Given the description of an element on the screen output the (x, y) to click on. 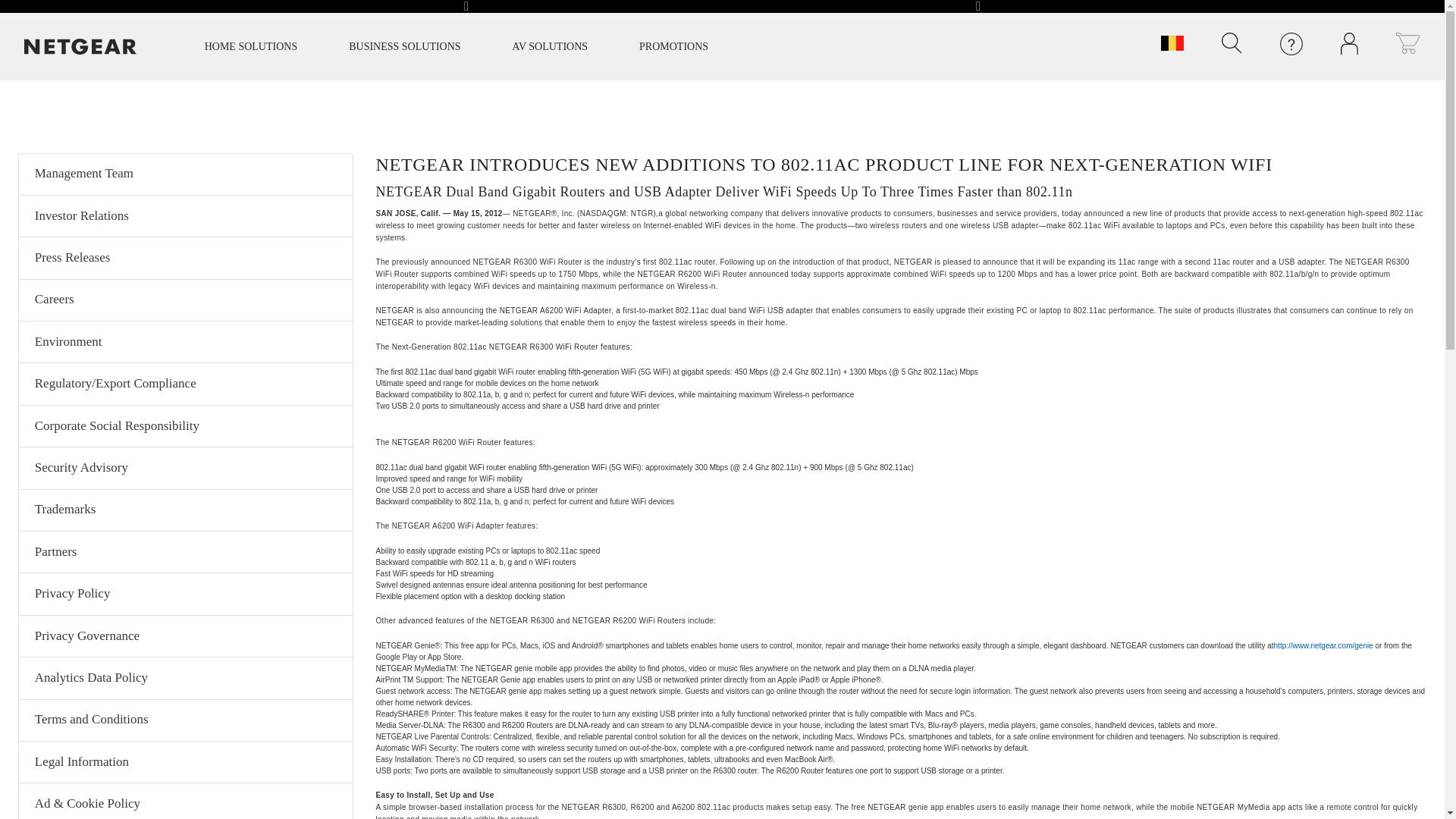
HOME SOLUTIONS (251, 45)
Previous (466, 9)
Next (978, 9)
